Given the description of an element on the screen output the (x, y) to click on. 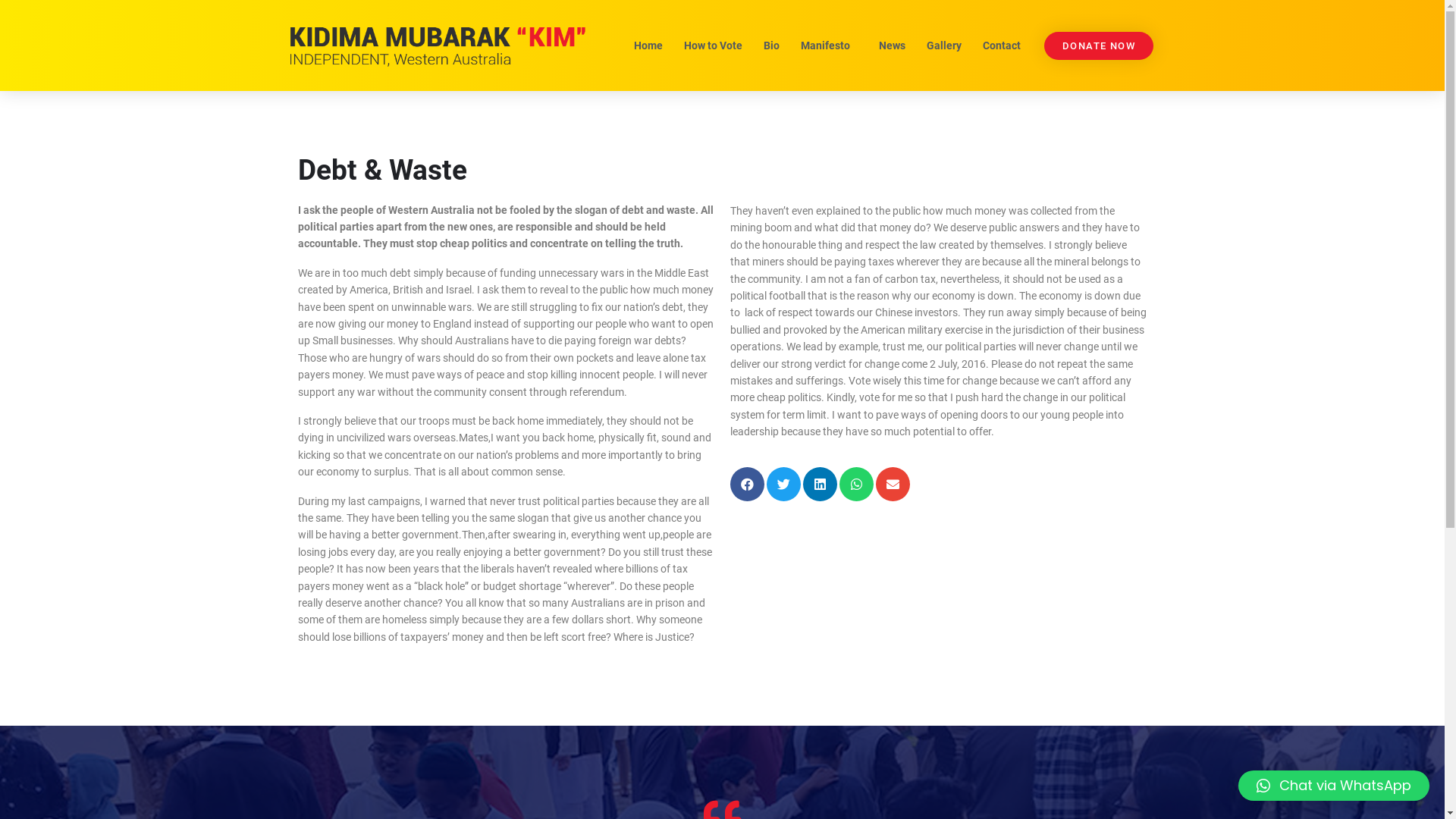
How to Vote Element type: text (711, 45)
News Element type: text (891, 45)
Chat via WhatsApp Element type: text (1333, 785)
Contact Element type: text (1000, 45)
Gallery Element type: text (943, 45)
DONATE NOW Element type: text (1098, 45)
Bio Element type: text (771, 45)
Manifesto Element type: text (828, 45)
Home Element type: text (647, 45)
